Given the description of an element on the screen output the (x, y) to click on. 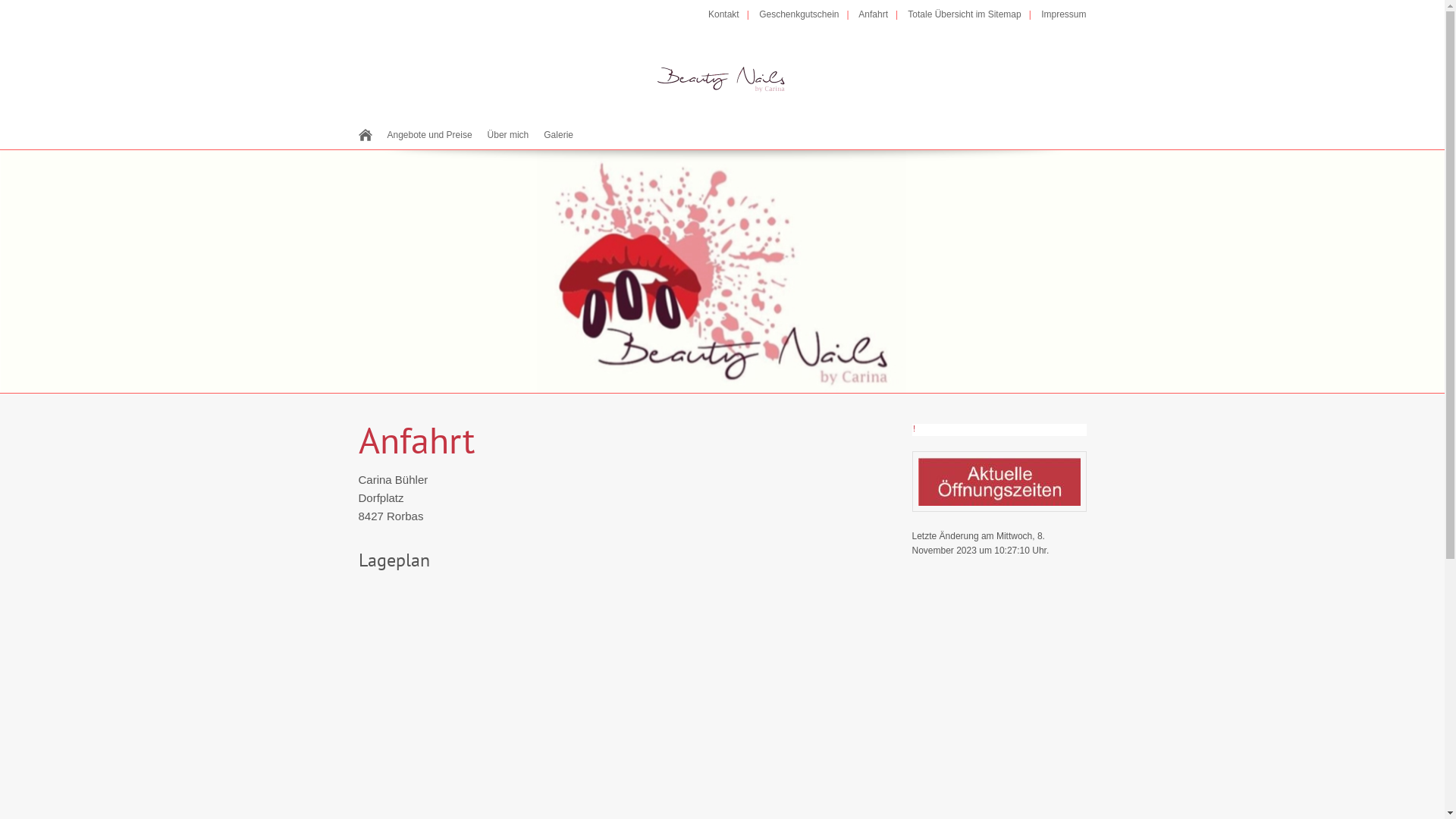
Impressum Element type: text (1063, 14)
Geschenkgutschein Element type: text (807, 14)
Angebote und Preise Element type: text (429, 134)
Anfahrt Element type: text (881, 14)
Galerie Element type: text (558, 134)
Kontakt Element type: text (732, 14)
